Given the description of an element on the screen output the (x, y) to click on. 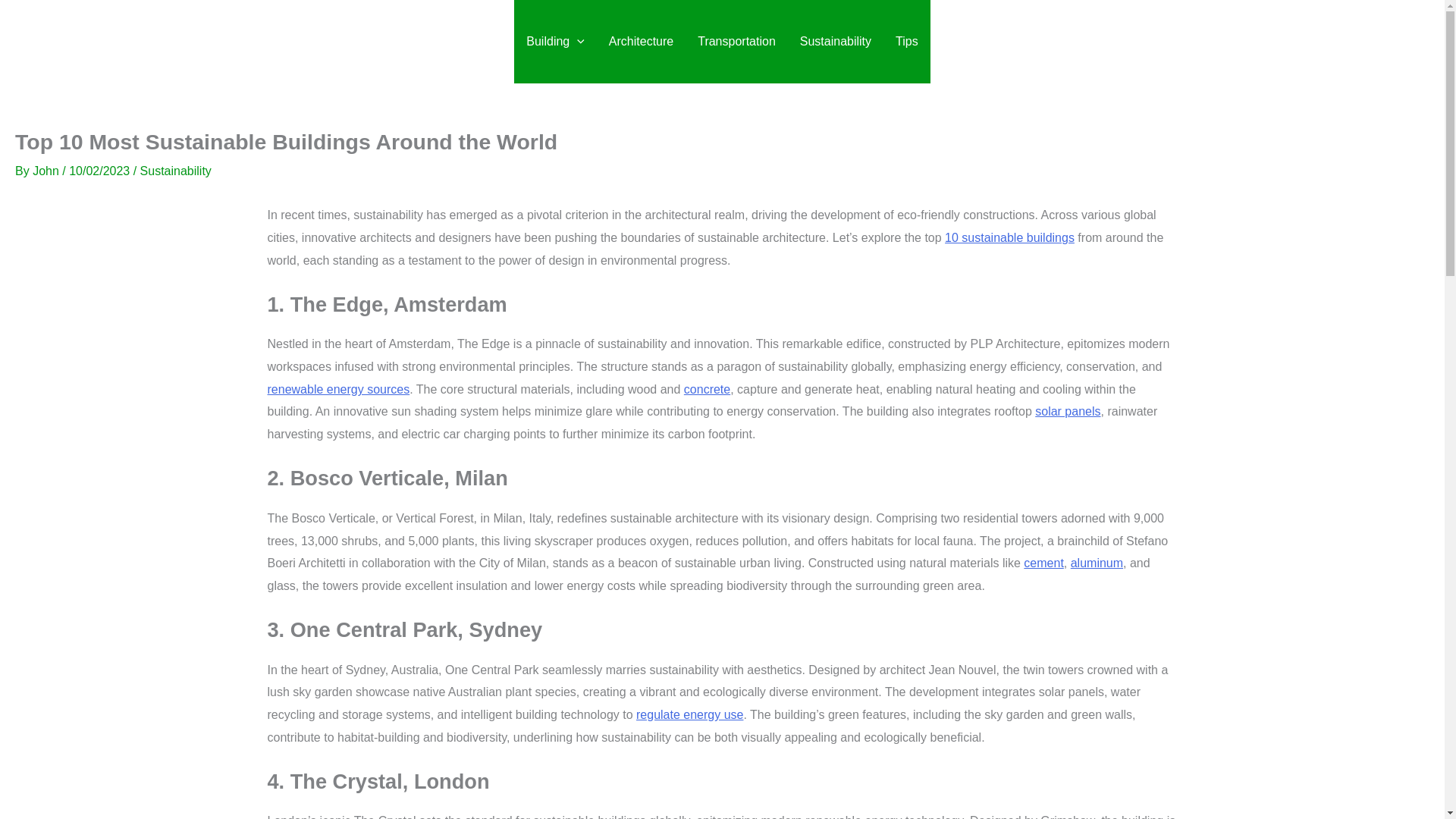
renewable energy sources (337, 389)
solar panels (1067, 410)
Architecture (640, 41)
aluminum (1096, 562)
Contact us (1356, 41)
10 sustainable buildings (1009, 237)
regulate energy use (689, 714)
cement (1042, 562)
View all posts by John (47, 170)
John (47, 170)
concrete (707, 389)
Transportation (736, 41)
Building (554, 41)
Sustainability (175, 170)
Sustainability (835, 41)
